Given the description of an element on the screen output the (x, y) to click on. 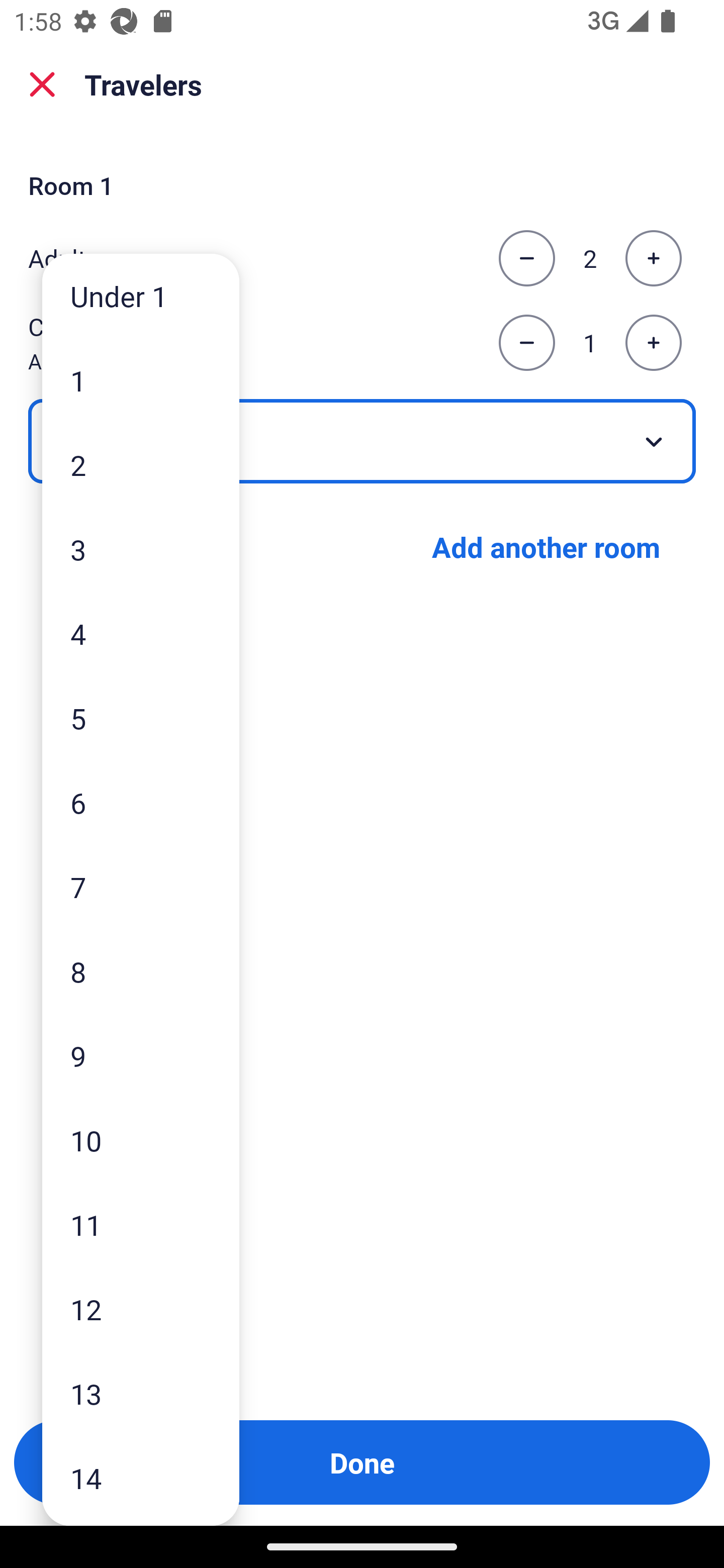
Under 1 (140, 296)
1 (140, 380)
2 (140, 464)
3 (140, 548)
4 (140, 633)
5 (140, 717)
6 (140, 802)
7 (140, 887)
8 (140, 970)
9 (140, 1054)
10 (140, 1139)
11 (140, 1224)
12 (140, 1308)
13 (140, 1393)
14 (140, 1478)
